Given the description of an element on the screen output the (x, y) to click on. 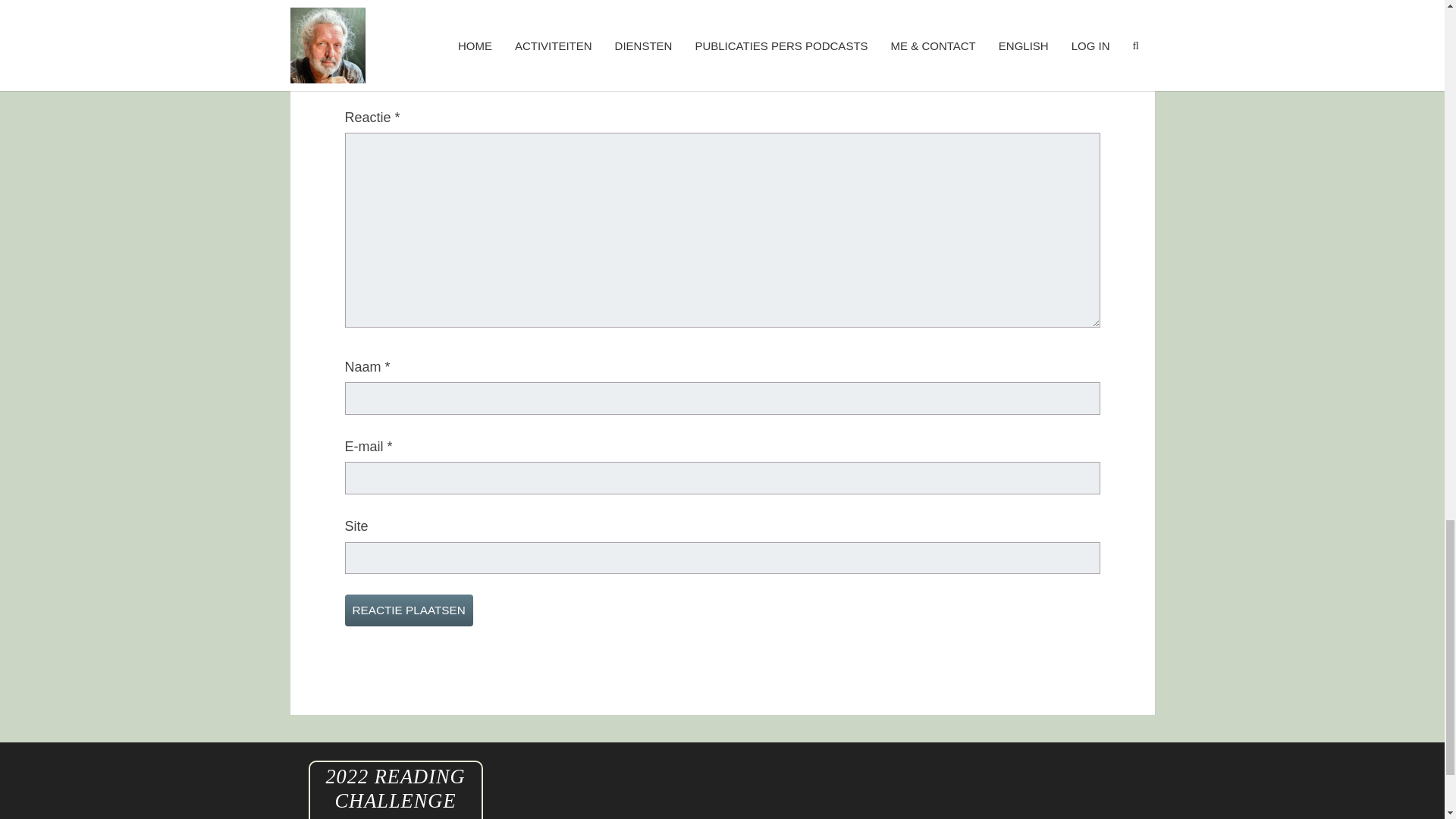
Reactie plaatsen (407, 610)
Reactie plaatsen (407, 610)
2022 READING CHALLENGE (394, 788)
